Given the description of an element on the screen output the (x, y) to click on. 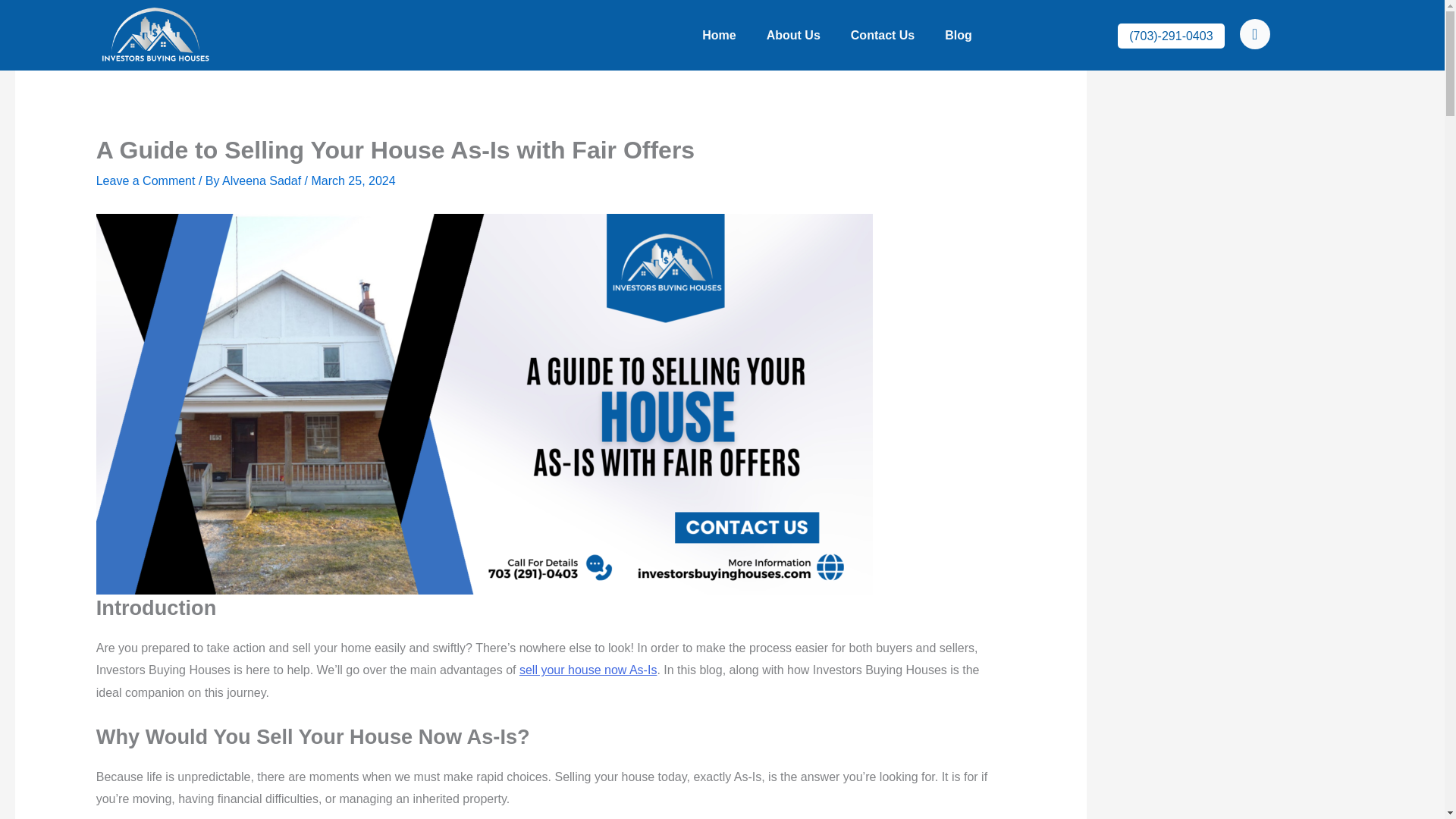
Contact Us (882, 35)
View all posts by Alveena Sadaf (263, 180)
Alveena Sadaf (263, 180)
Blog (958, 35)
Home (719, 35)
sell your house now As-Is (587, 669)
About Us (793, 35)
Leave a Comment (145, 180)
